Given the description of an element on the screen output the (x, y) to click on. 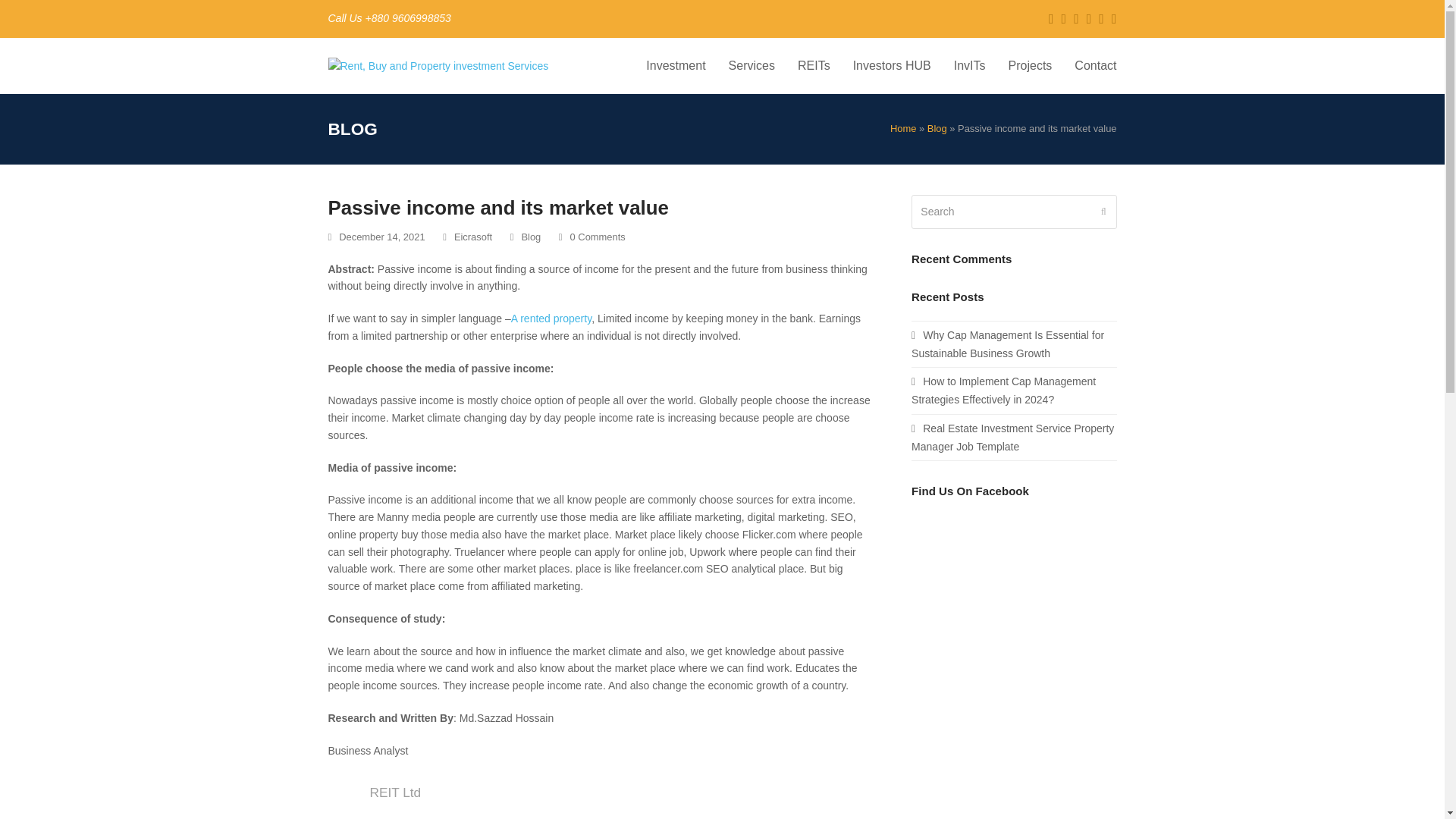
0 Comments (592, 237)
Investment (675, 65)
Posts by Eicrasoft (473, 236)
